Given the description of an element on the screen output the (x, y) to click on. 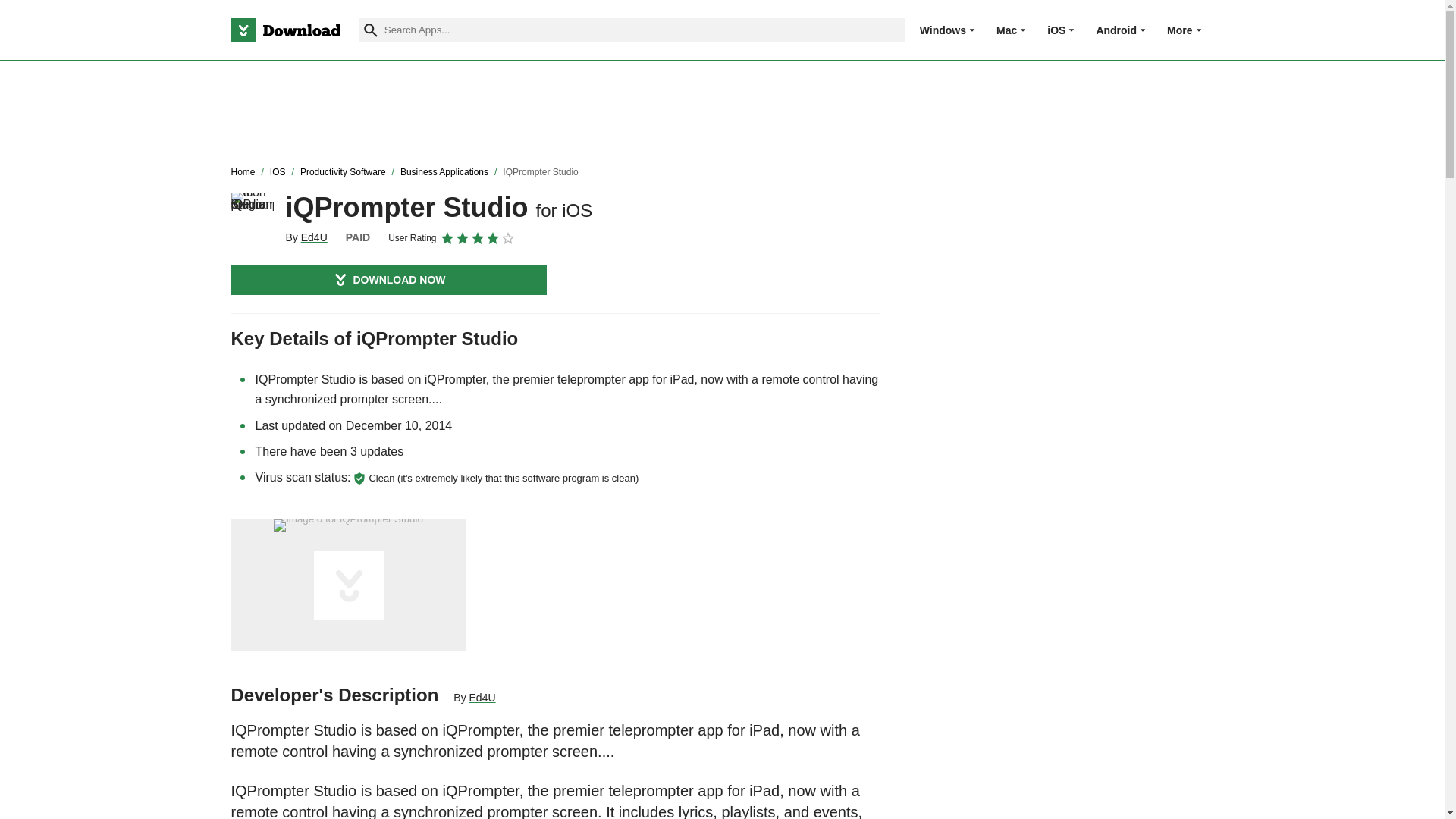
iQPrompter Studio for iOS (251, 213)
Windows (943, 29)
Mac (1005, 29)
